Given the description of an element on the screen output the (x, y) to click on. 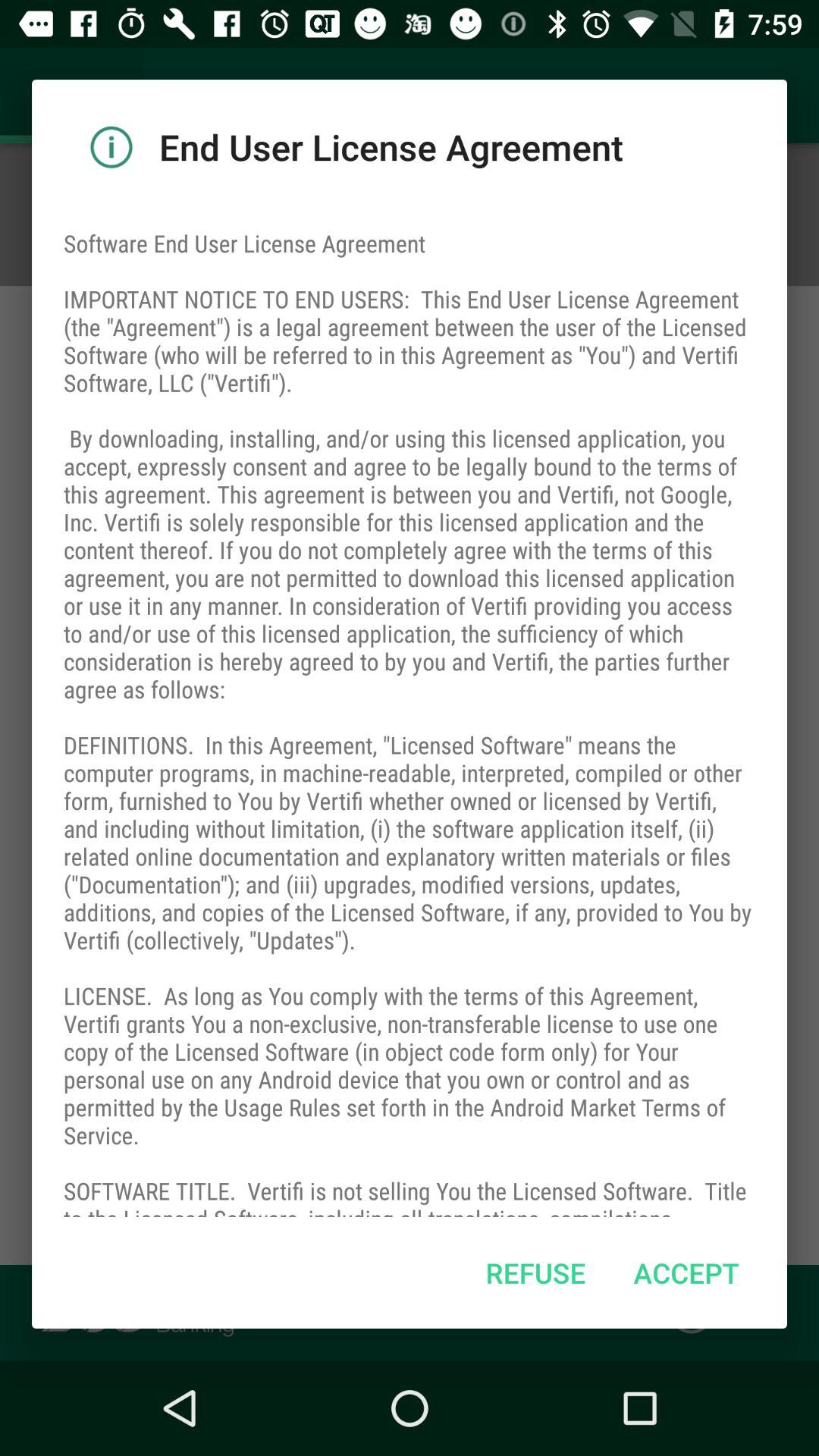
open the item below the software end user item (686, 1272)
